Given the description of an element on the screen output the (x, y) to click on. 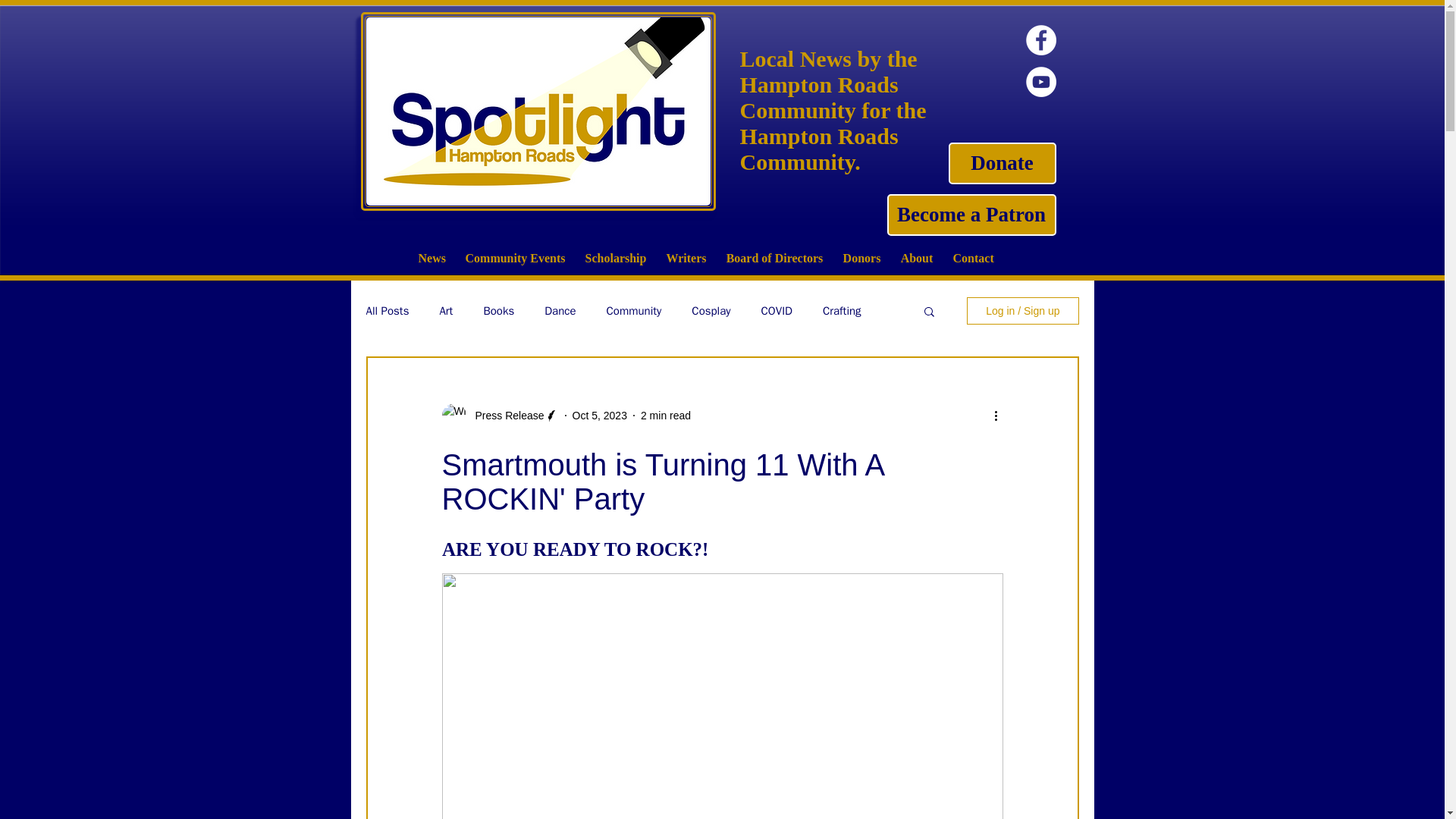
Dance (559, 310)
Books (498, 310)
Scholarship (615, 257)
Donate (1001, 163)
Become a Patron (971, 214)
News (430, 257)
Art (445, 310)
All Posts (387, 310)
Crafting (841, 310)
Cosplay (710, 310)
